Given the description of an element on the screen output the (x, y) to click on. 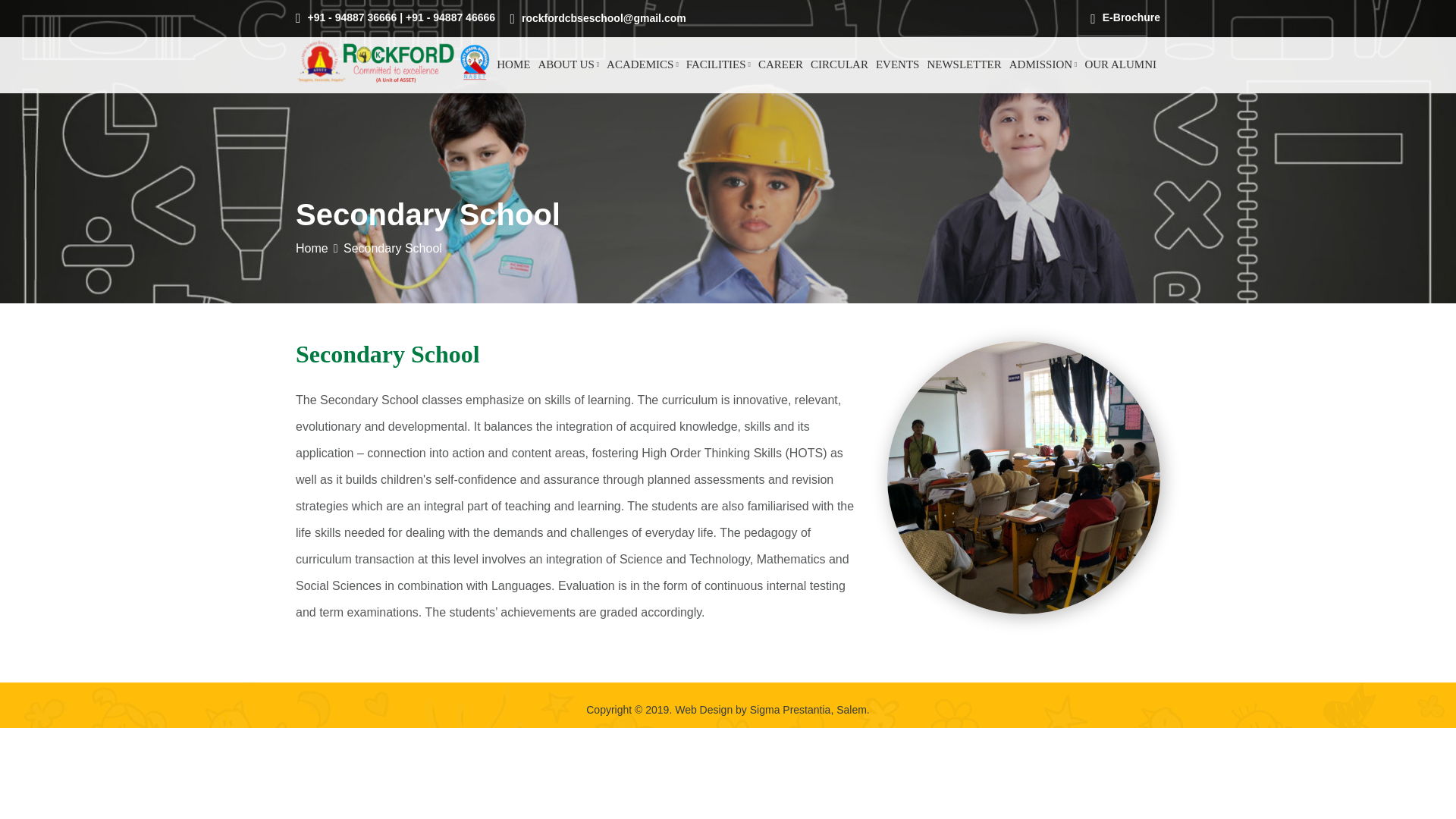
E-Brochure (1125, 17)
ACADEMICS (642, 64)
ABOUT US (568, 64)
